Given the description of an element on the screen output the (x, y) to click on. 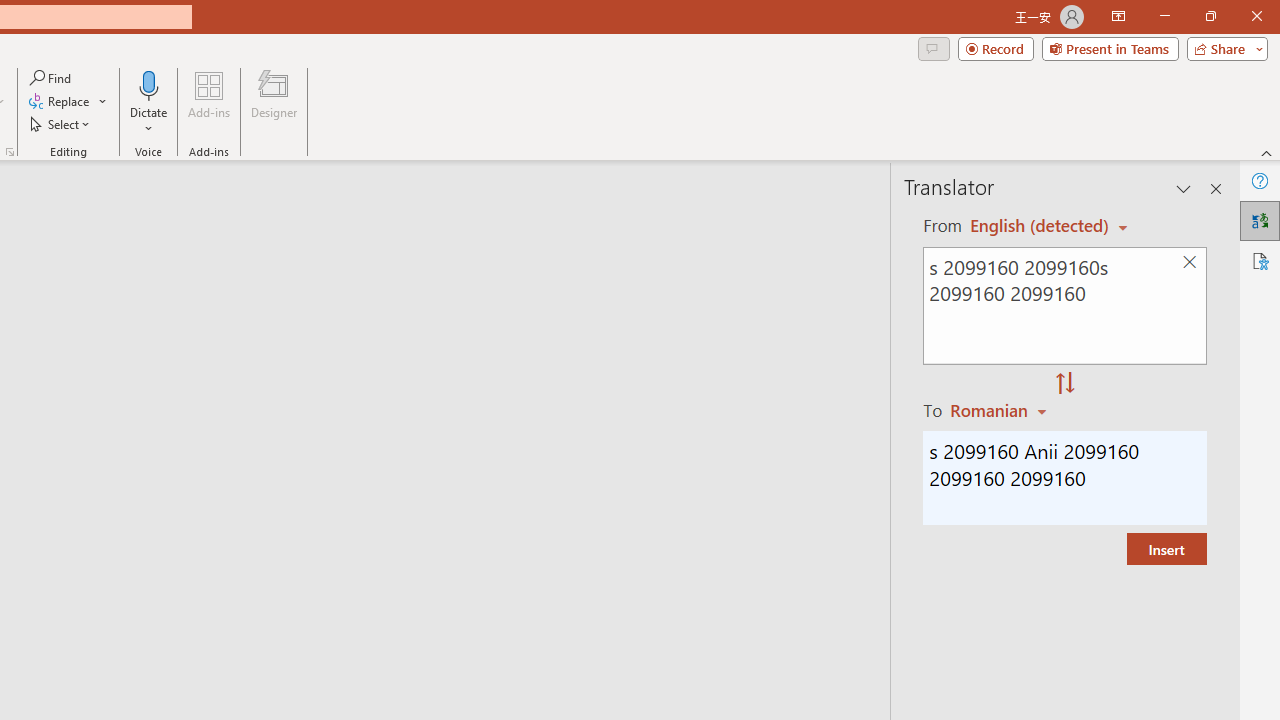
Format Object... (9, 151)
Find... (51, 78)
Czech (detected) (1039, 225)
Clear text (1189, 262)
Translator (1260, 220)
Swap "from" and "to" languages. (1065, 383)
